Given the description of an element on the screen output the (x, y) to click on. 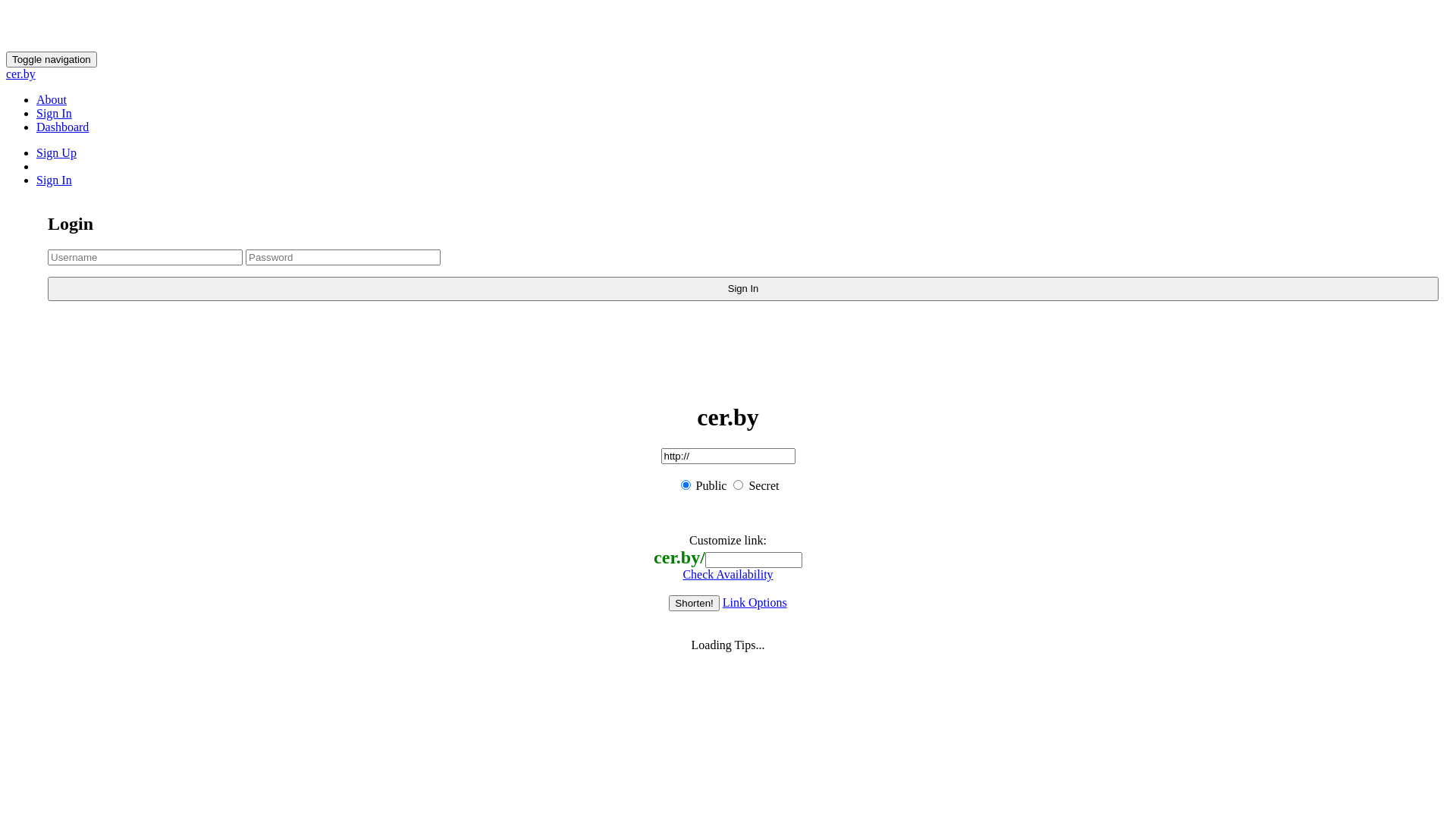
Dashboard Element type: text (62, 126)
About Element type: text (51, 99)
Toggle navigation Element type: text (51, 59)
Shorten! Element type: text (693, 603)
Link Options Element type: text (754, 602)
Check Availability Element type: text (727, 573)
Sign Up Element type: text (56, 152)
cer.by Element type: text (20, 73)
Sign In Element type: text (742, 288)
Sign In Element type: text (54, 112)
Sign In Element type: text (54, 179)
